Given the description of an element on the screen output the (x, y) to click on. 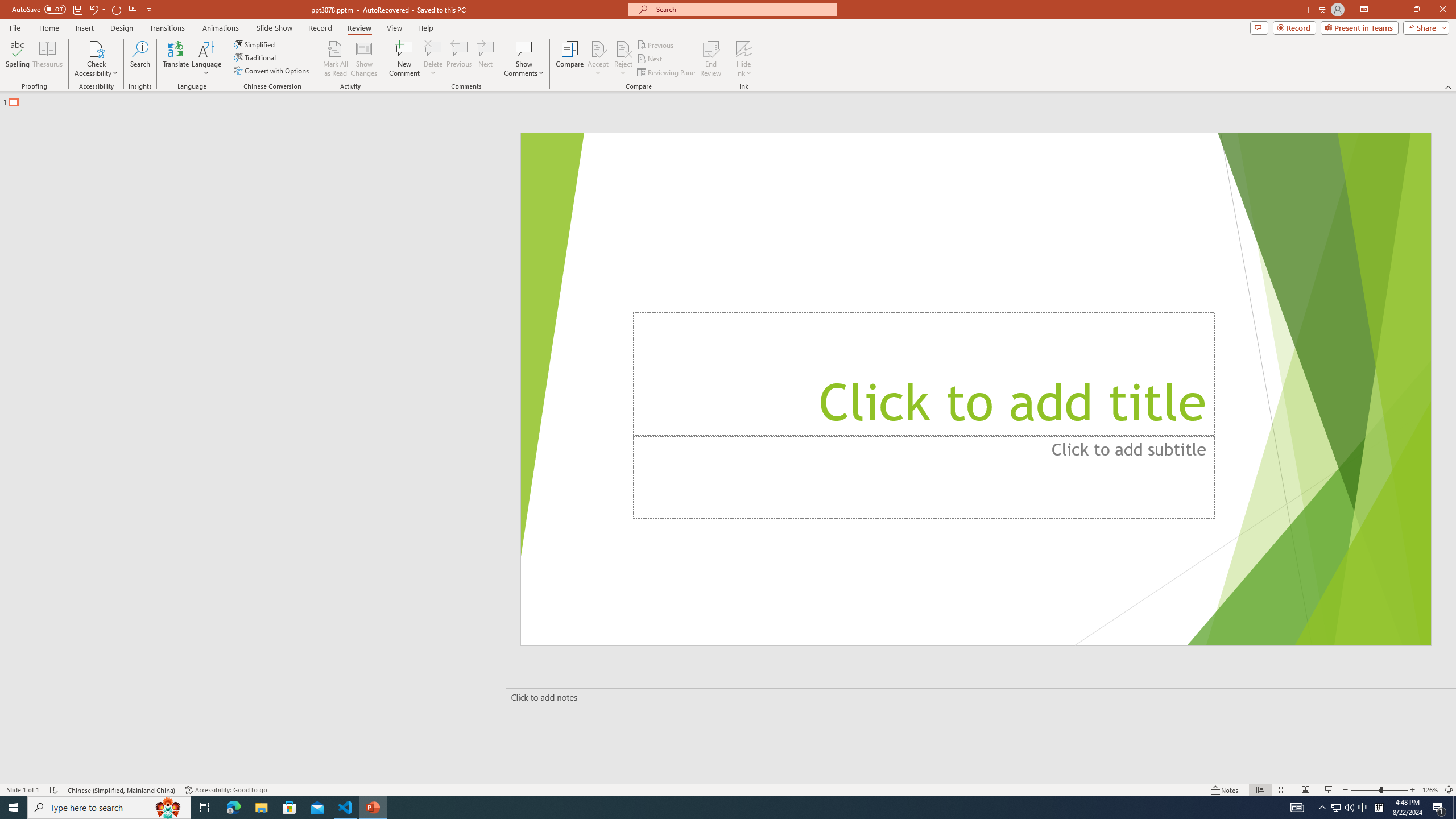
Compare (569, 58)
Accept Change (598, 48)
Accept (598, 58)
